Given the description of an element on the screen output the (x, y) to click on. 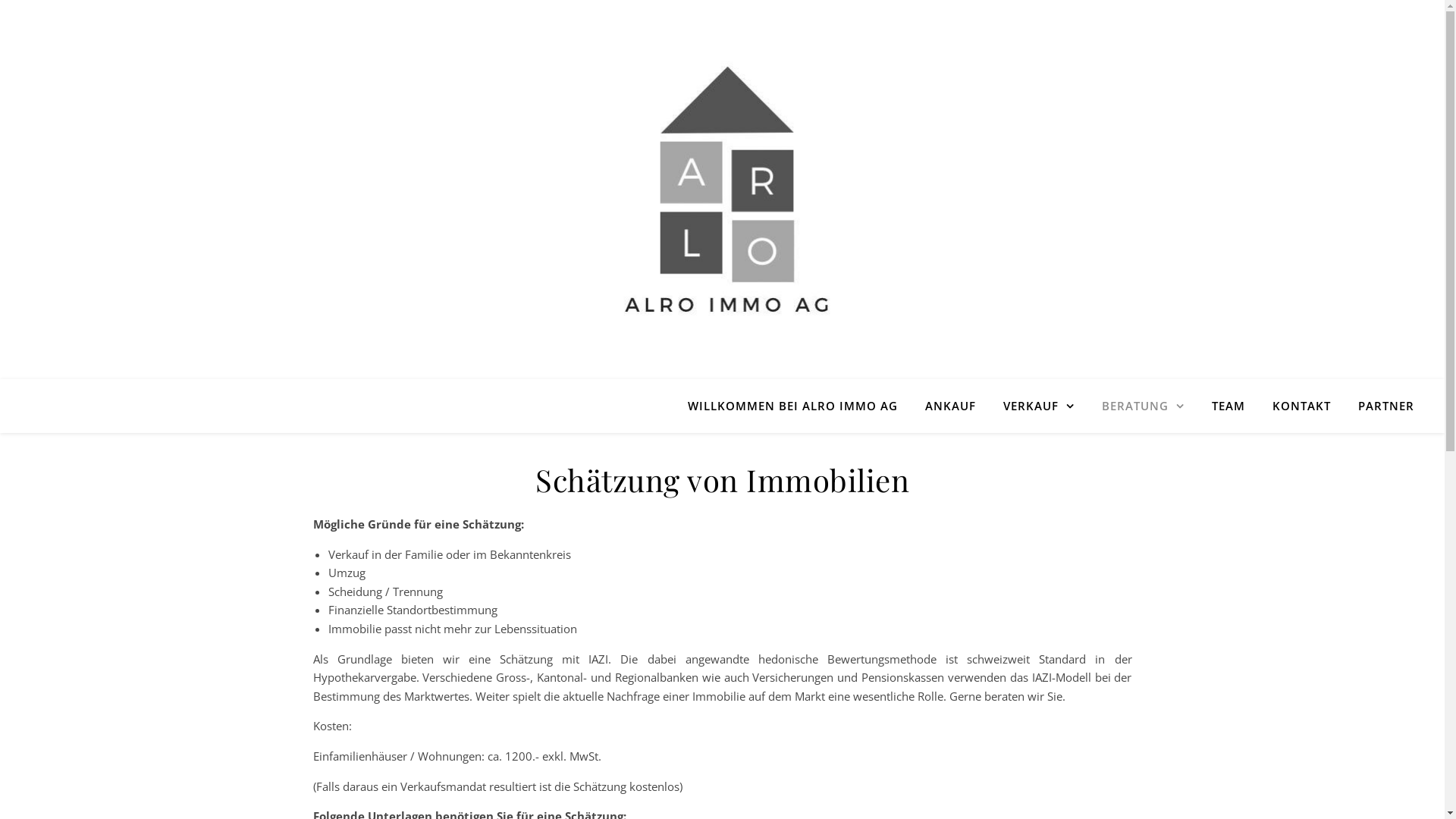
Immobilien Element type: hover (721, 189)
KONTAKT Element type: text (1301, 405)
PARTNER Element type: text (1380, 405)
VERKAUF Element type: text (1038, 406)
BERATUNG Element type: text (1142, 406)
ANKAUF Element type: text (950, 405)
WILLKOMMEN BEI ALRO IMMO AG Element type: text (798, 405)
TEAM Element type: text (1228, 405)
